Given the description of an element on the screen output the (x, y) to click on. 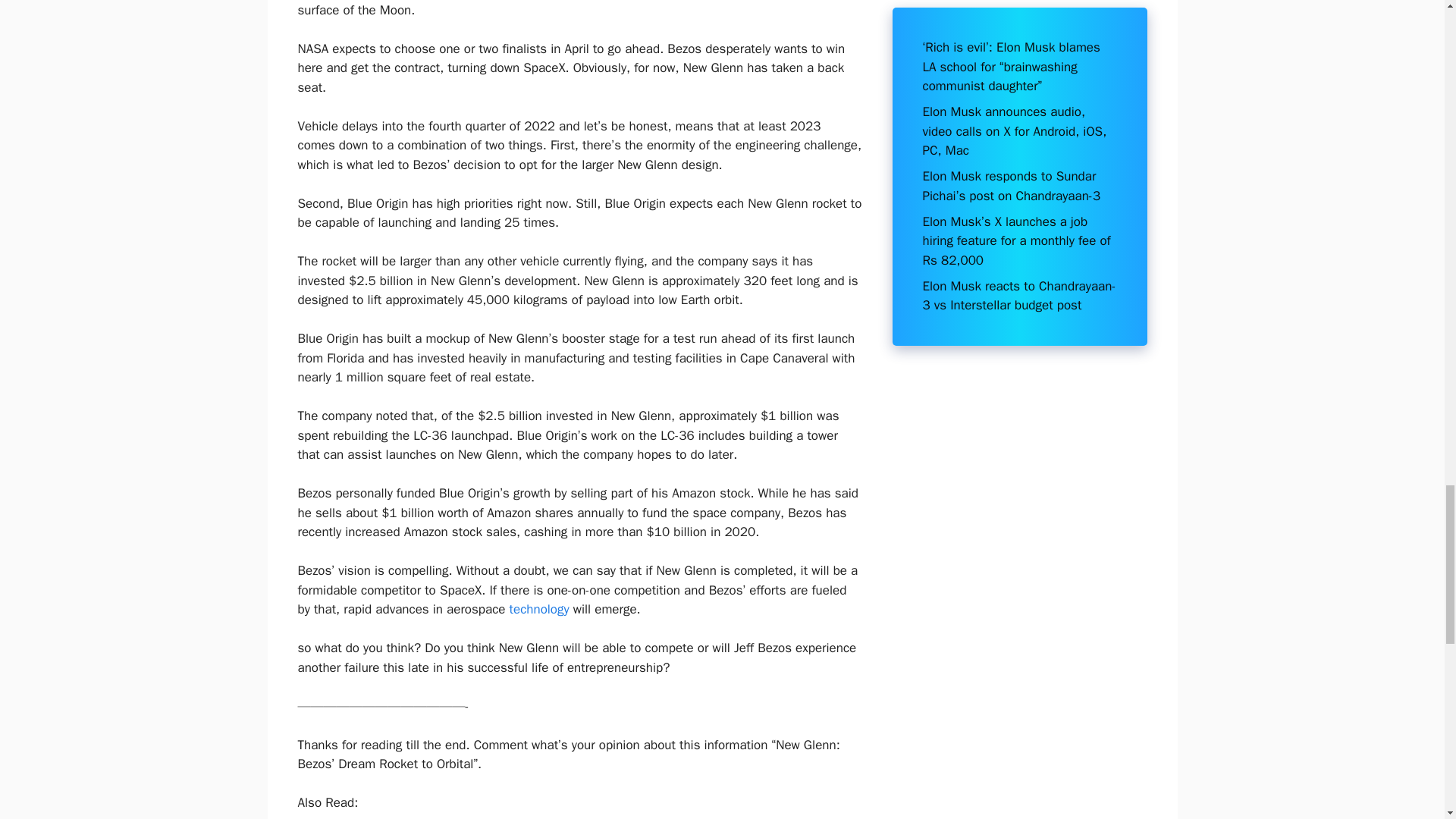
technology (539, 609)
